Given the description of an element on the screen output the (x, y) to click on. 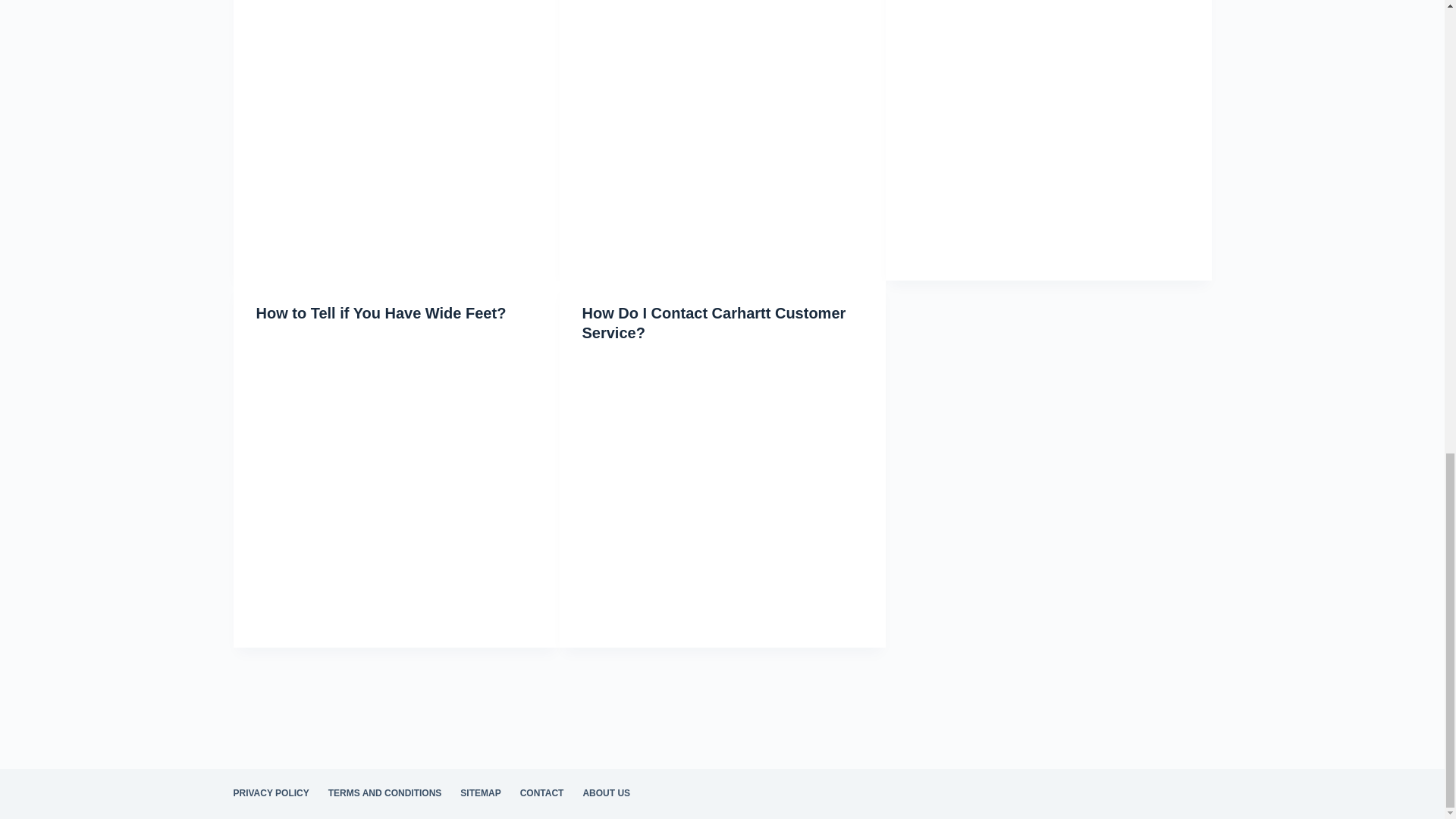
How Do I Contact Carhartt Customer Service? (713, 321)
How to Tell if You Have Wide Feet? (381, 312)
